Given the description of an element on the screen output the (x, y) to click on. 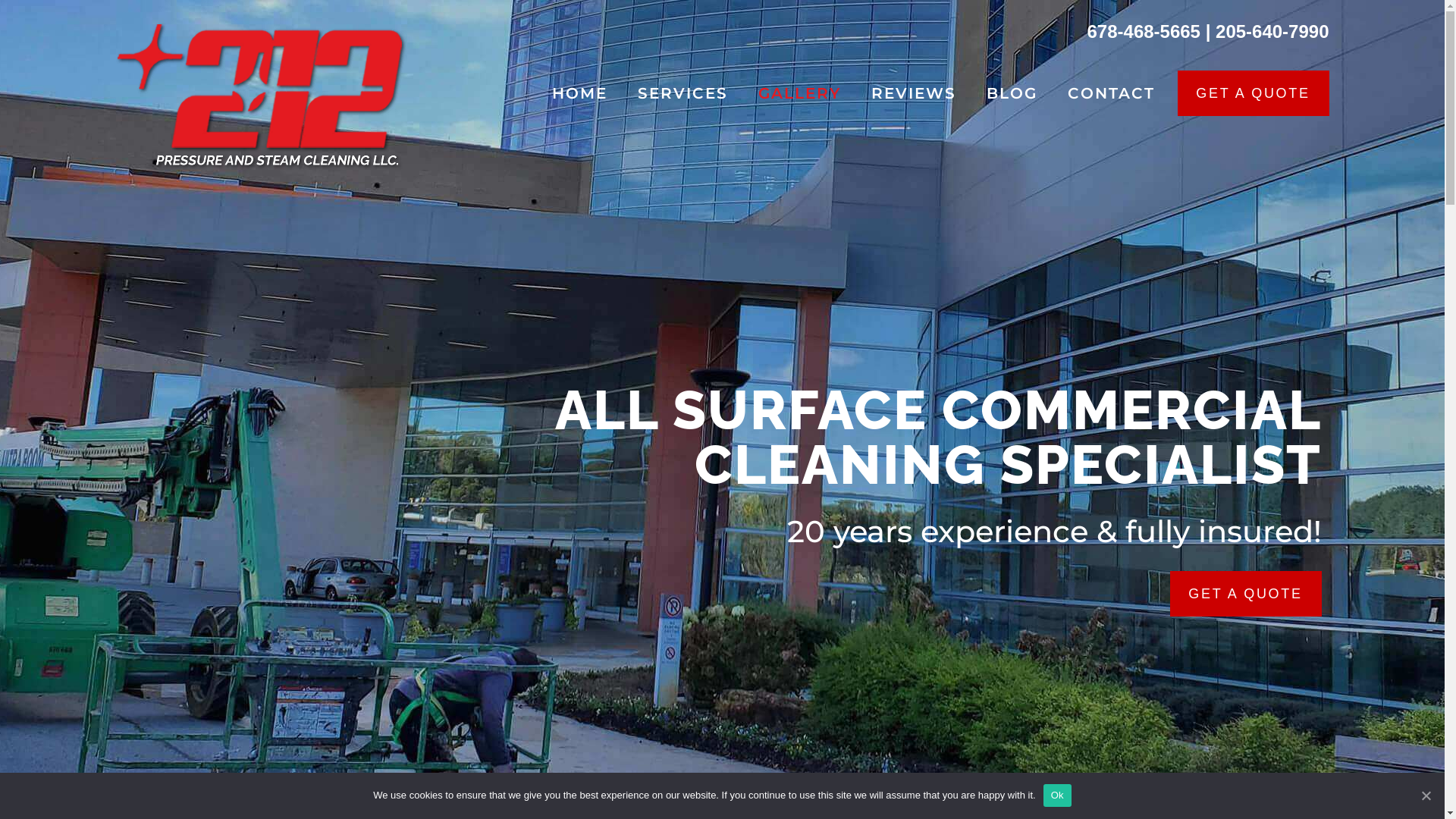
GET A QUOTE Element type: text (1252, 93)
REVIEWS Element type: text (912, 93)
Ok Element type: text (1057, 795)
HOME Element type: text (579, 93)
CONTACT Element type: text (1110, 93)
678-468-5665 Element type: text (1143, 31)
SERVICES Element type: text (682, 93)
GALLERY Element type: text (799, 93)
BLOG Element type: text (1010, 93)
GET A QUOTE Element type: text (1245, 593)
205-640-7990 Element type: text (1271, 31)
